Given the description of an element on the screen output the (x, y) to click on. 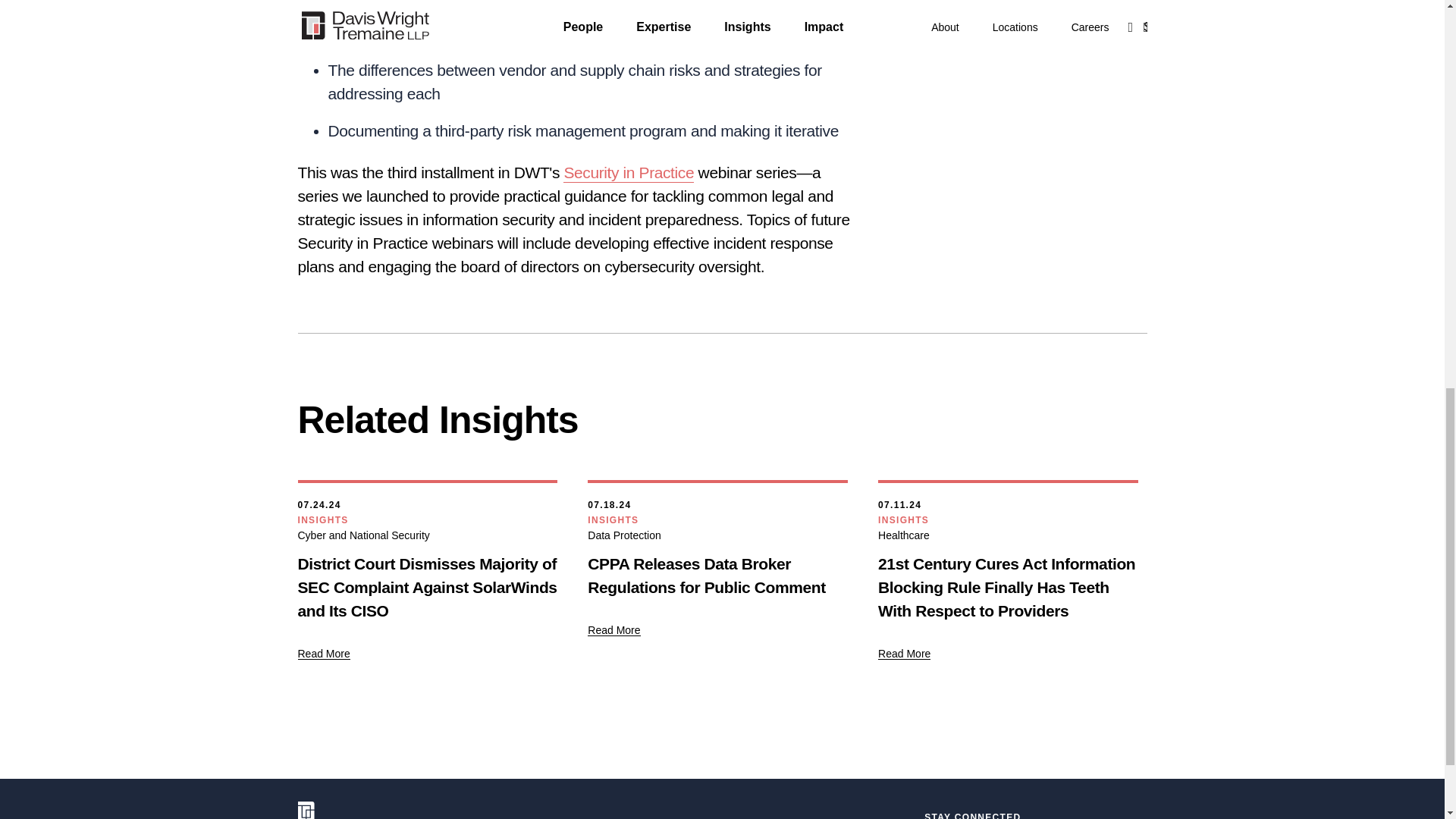
Read More (323, 653)
Read More (903, 653)
Read More (614, 629)
Security in Practice (628, 172)
CPPA Releases Data Broker Regulations for Public Comment (717, 574)
